Given the description of an element on the screen output the (x, y) to click on. 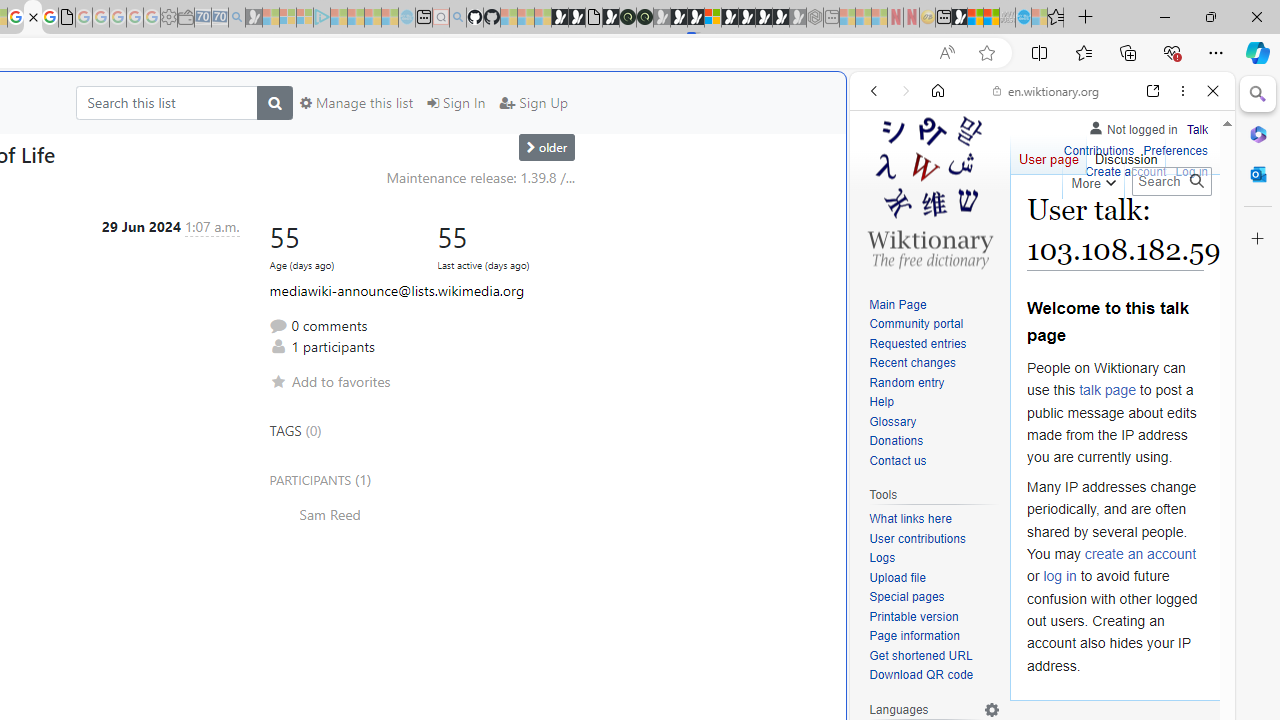
Main Page (934, 305)
Donations (896, 441)
Download QR code (921, 675)
Web scope (882, 180)
mediawiki-announce@lists.wikimedia.org (396, 290)
Tabs you've opened (276, 265)
Microsoft Start Gaming - Sleeping (253, 17)
Go (1196, 181)
Play Free Online Games | Games from Microsoft Start (746, 17)
